Given the description of an element on the screen output the (x, y) to click on. 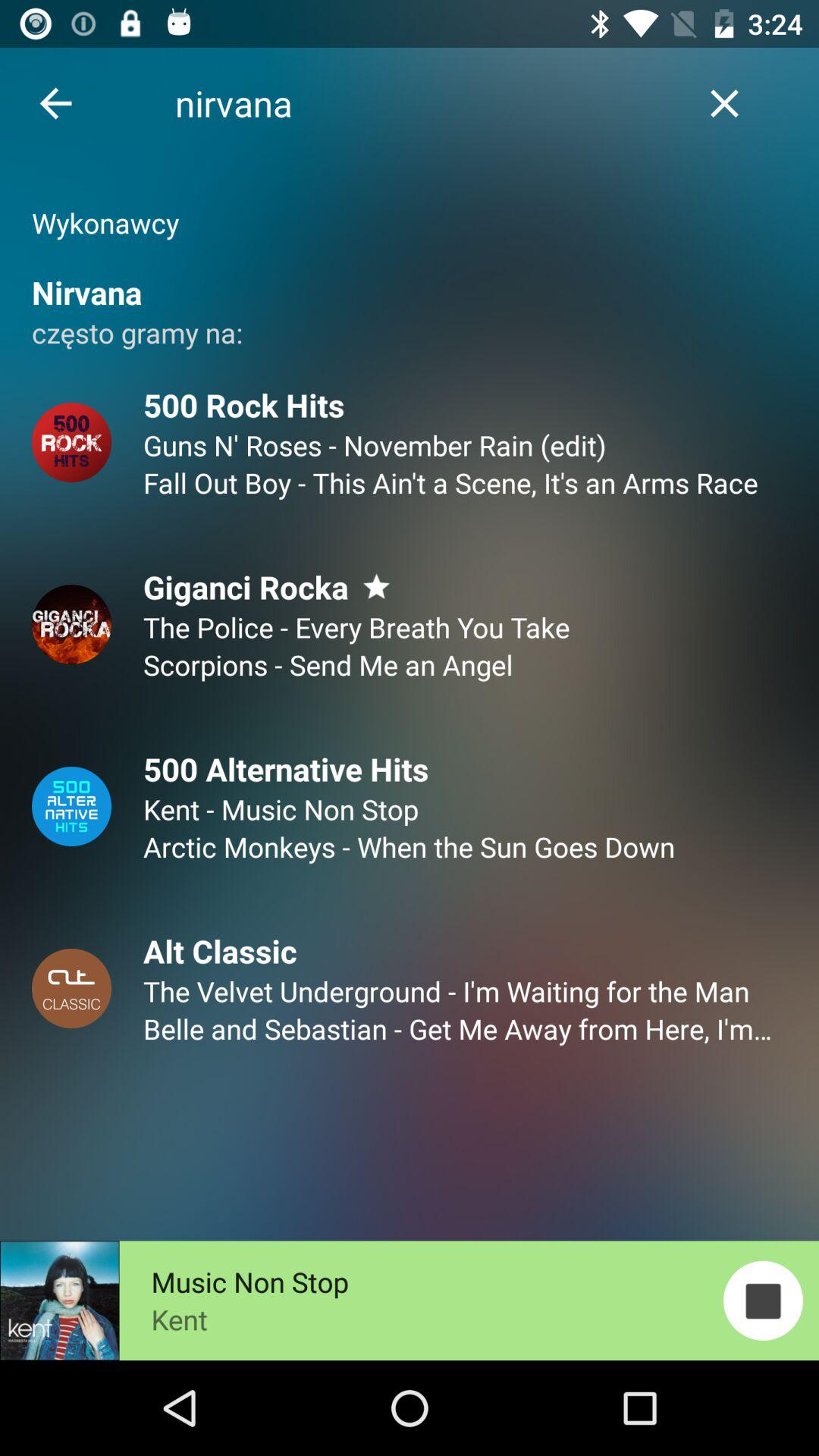
turn on the item below belle and sebastian icon (763, 1300)
